Given the description of an element on the screen output the (x, y) to click on. 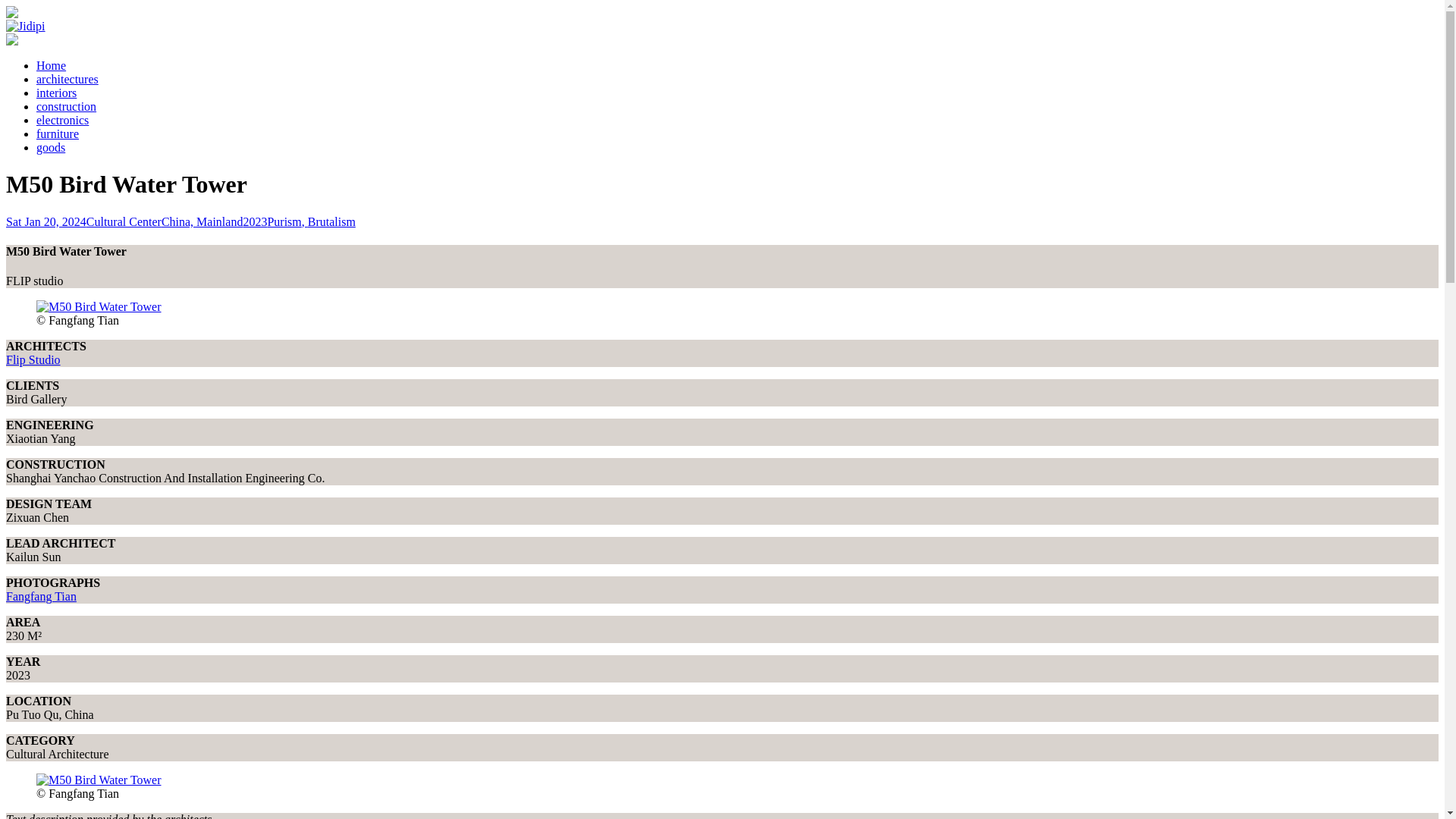
Cultural Center (123, 221)
Fangfang Tian (41, 595)
Purism, (286, 221)
electronics (62, 119)
goods (50, 146)
construction (66, 106)
interiors (56, 92)
architectures (67, 78)
M50 Bird Water Tower (33, 359)
M50 Bird Water Tower (41, 595)
Brutalism (331, 221)
M50 Bird Water Tower (98, 779)
Purism (286, 221)
M50 Bird Water Tower (98, 306)
China, Mainland (202, 221)
